Given the description of an element on the screen output the (x, y) to click on. 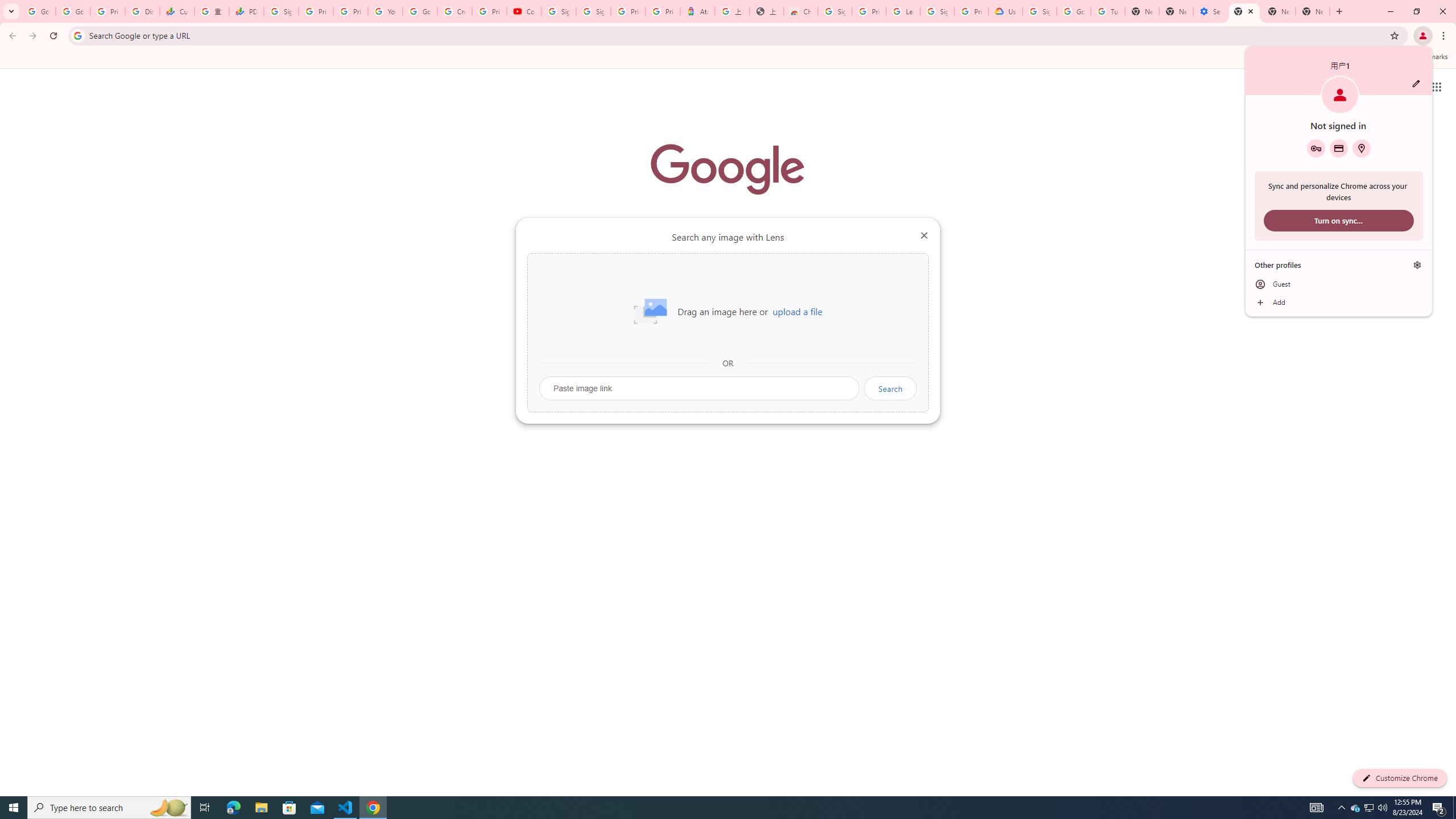
AutomationID: 4105 (1316, 807)
Show desktop (1454, 807)
Running applications (717, 807)
Google Account Help (1073, 11)
